Given the description of an element on the screen output the (x, y) to click on. 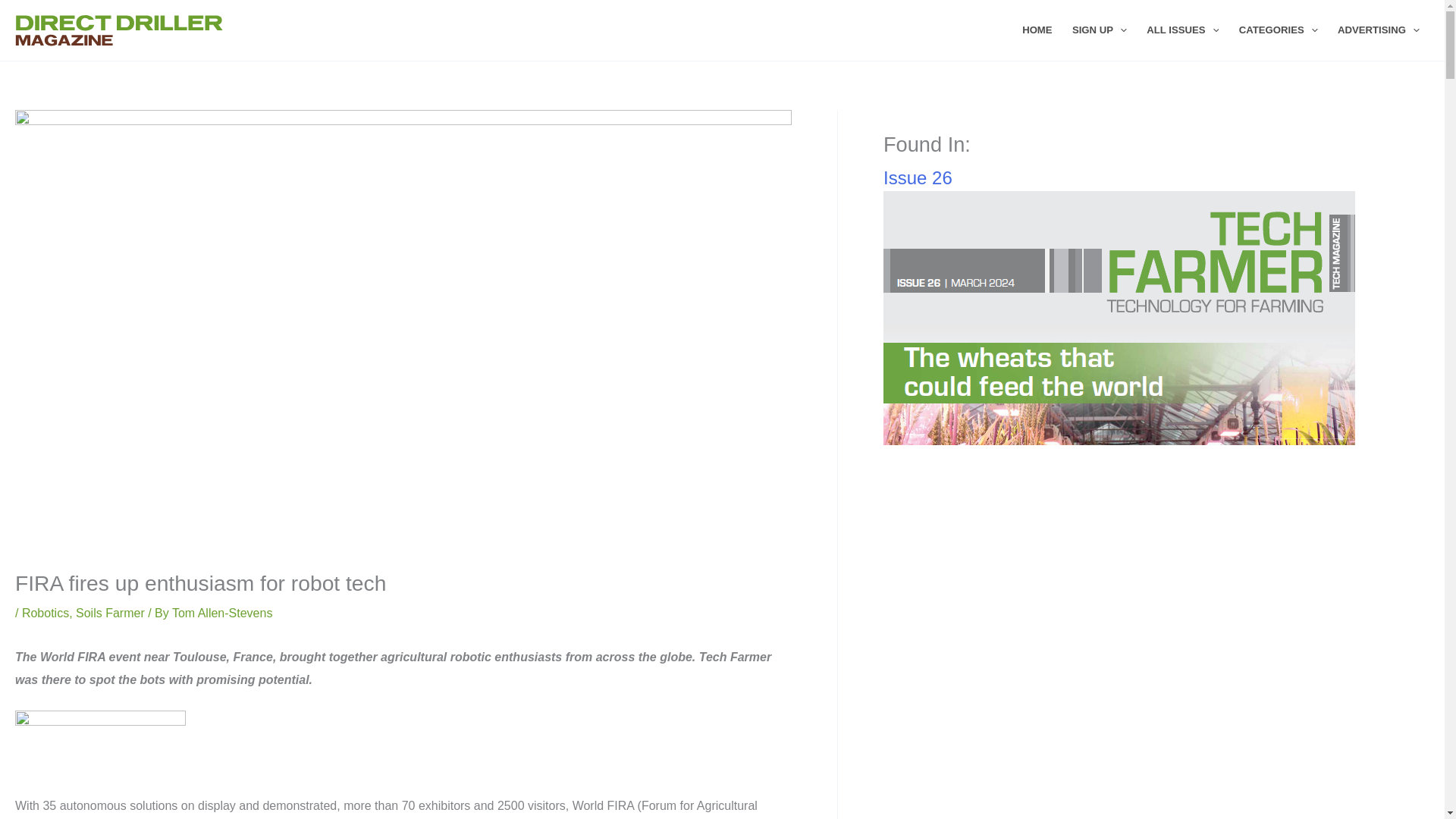
ADVERTISING (1378, 30)
View all posts by Tom Allen-Stevens (222, 612)
SIGN UP (1099, 30)
ALL ISSUES (1182, 30)
CATEGORIES (1277, 30)
